Given the description of an element on the screen output the (x, y) to click on. 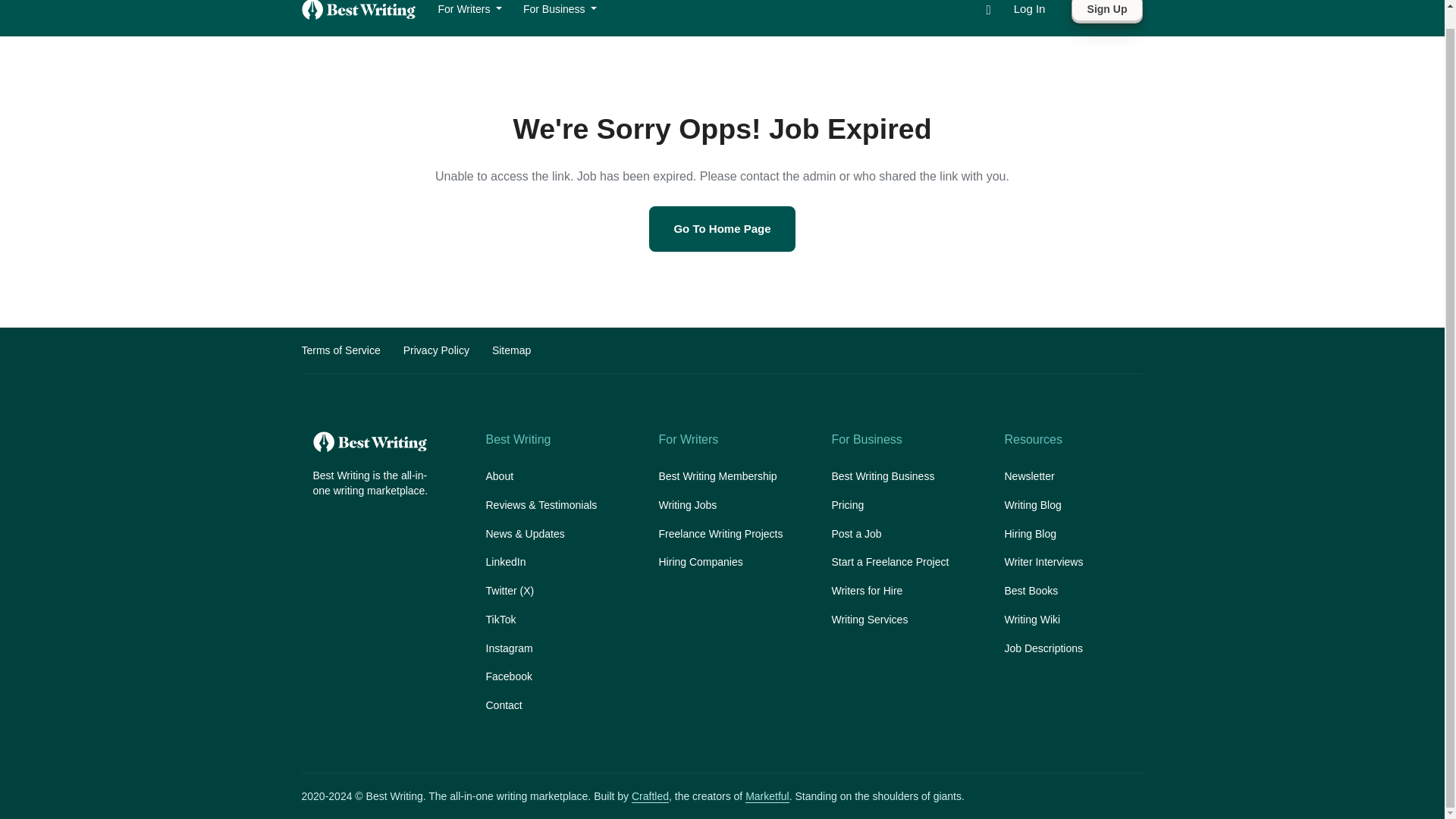
Go To Home Page (721, 229)
Log In (1029, 9)
Sign Up (1106, 11)
For Writers (470, 10)
For Business (559, 10)
Privacy Policy (435, 350)
Sign Up (1106, 11)
Terms of Service (340, 350)
Log In (1029, 9)
